Given the description of an element on the screen output the (x, y) to click on. 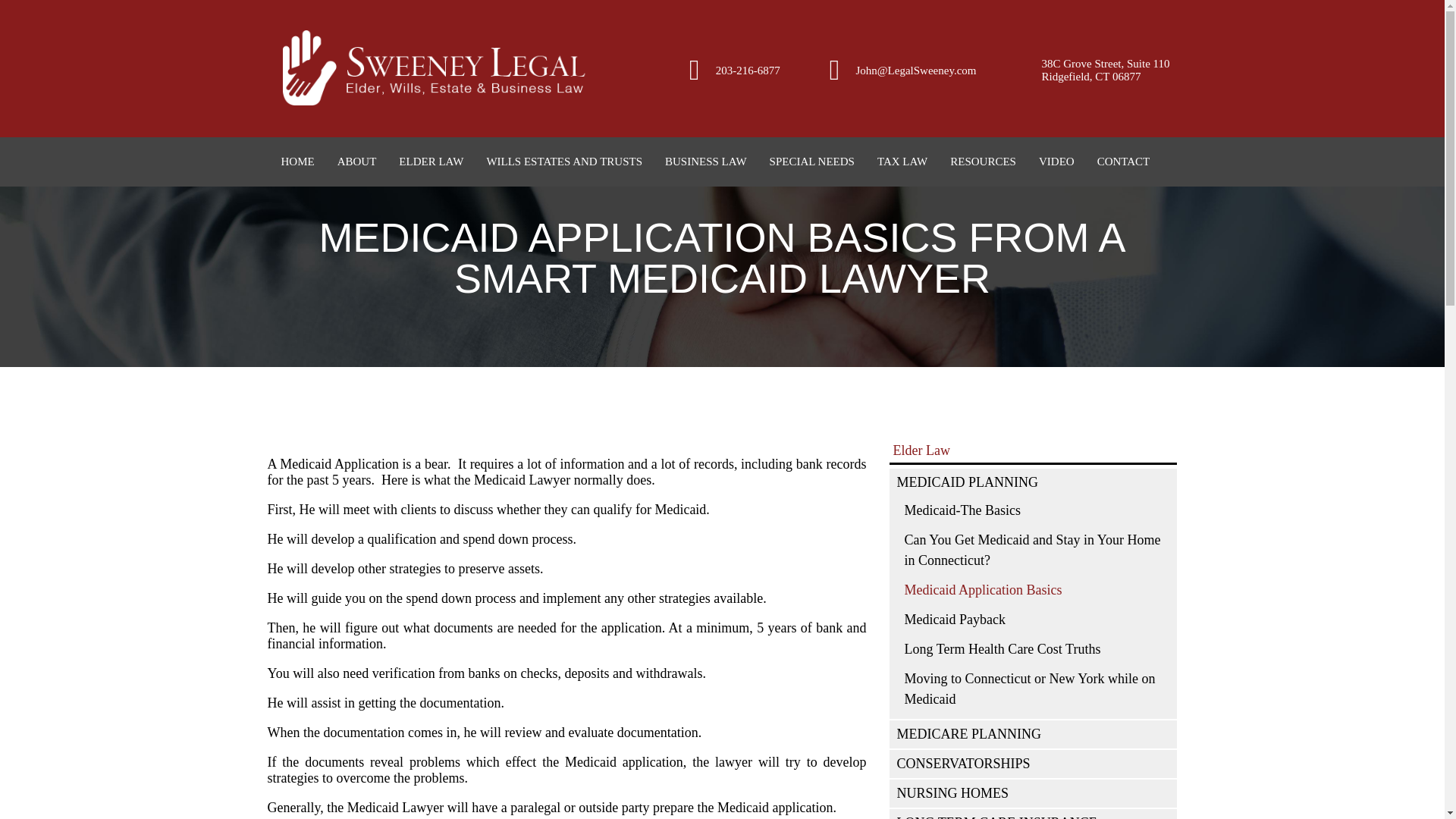
203-216-6877 (748, 70)
HOME (293, 161)
ELDER LAW (428, 161)
WILLS ESTATES AND TRUSTS (560, 161)
ABOUT (354, 161)
